Given the description of an element on the screen output the (x, y) to click on. 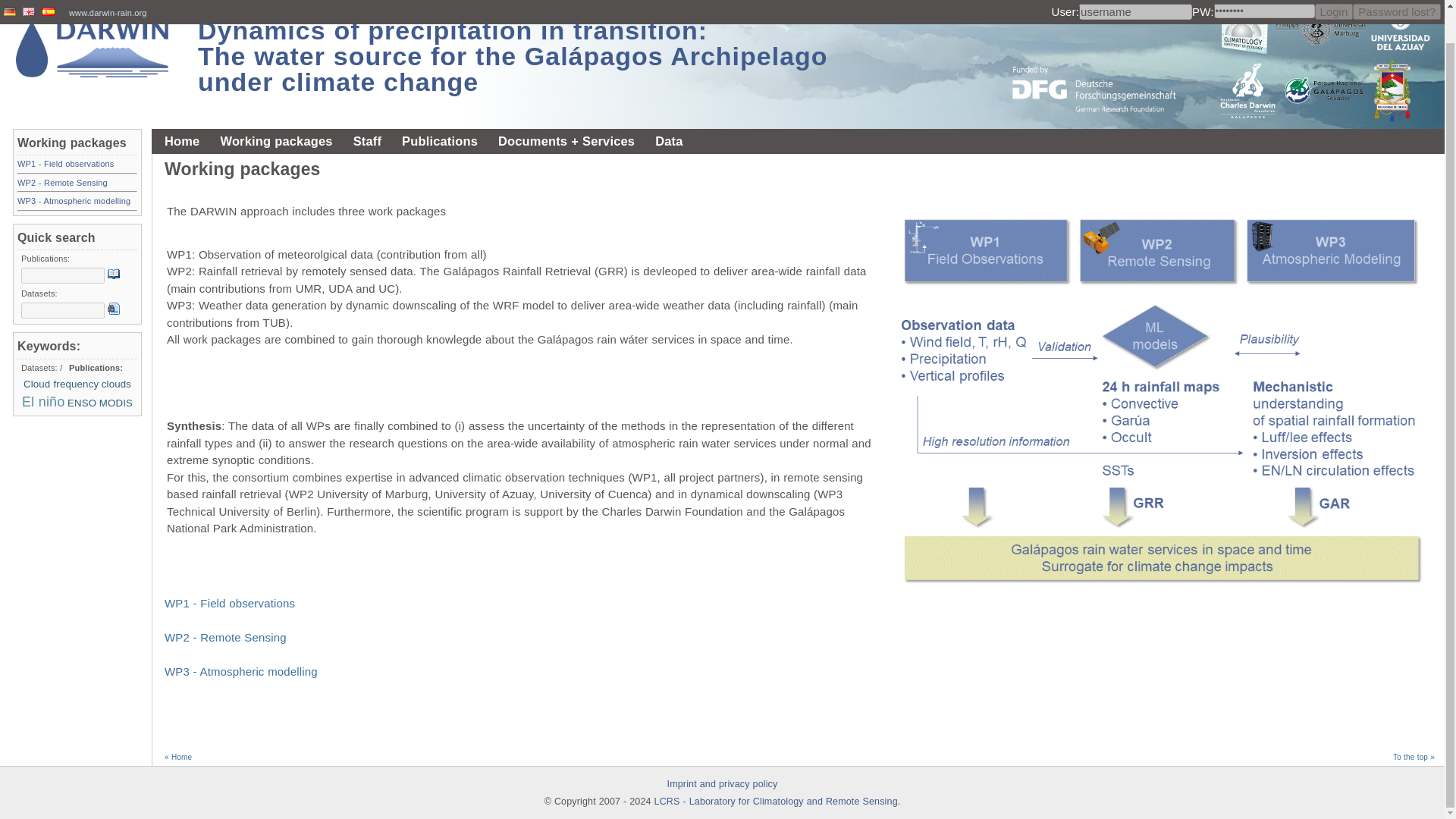
DFG (1103, 59)
WP1 - Field observations (229, 603)
WP2 - Remote Sensing (225, 636)
Publications (439, 140)
WP2 - Remote Sensing (62, 182)
home (92, 53)
Show publication keywords (40, 367)
WP1 - Field observations (65, 163)
Home (181, 140)
Help::Search for datasets (113, 308)
Data (667, 140)
home (513, 50)
Help::Search for publications (113, 273)
Show dataset keywords (95, 367)
WP3 - Atmospheric modelling (240, 671)
